Given the description of an element on the screen output the (x, y) to click on. 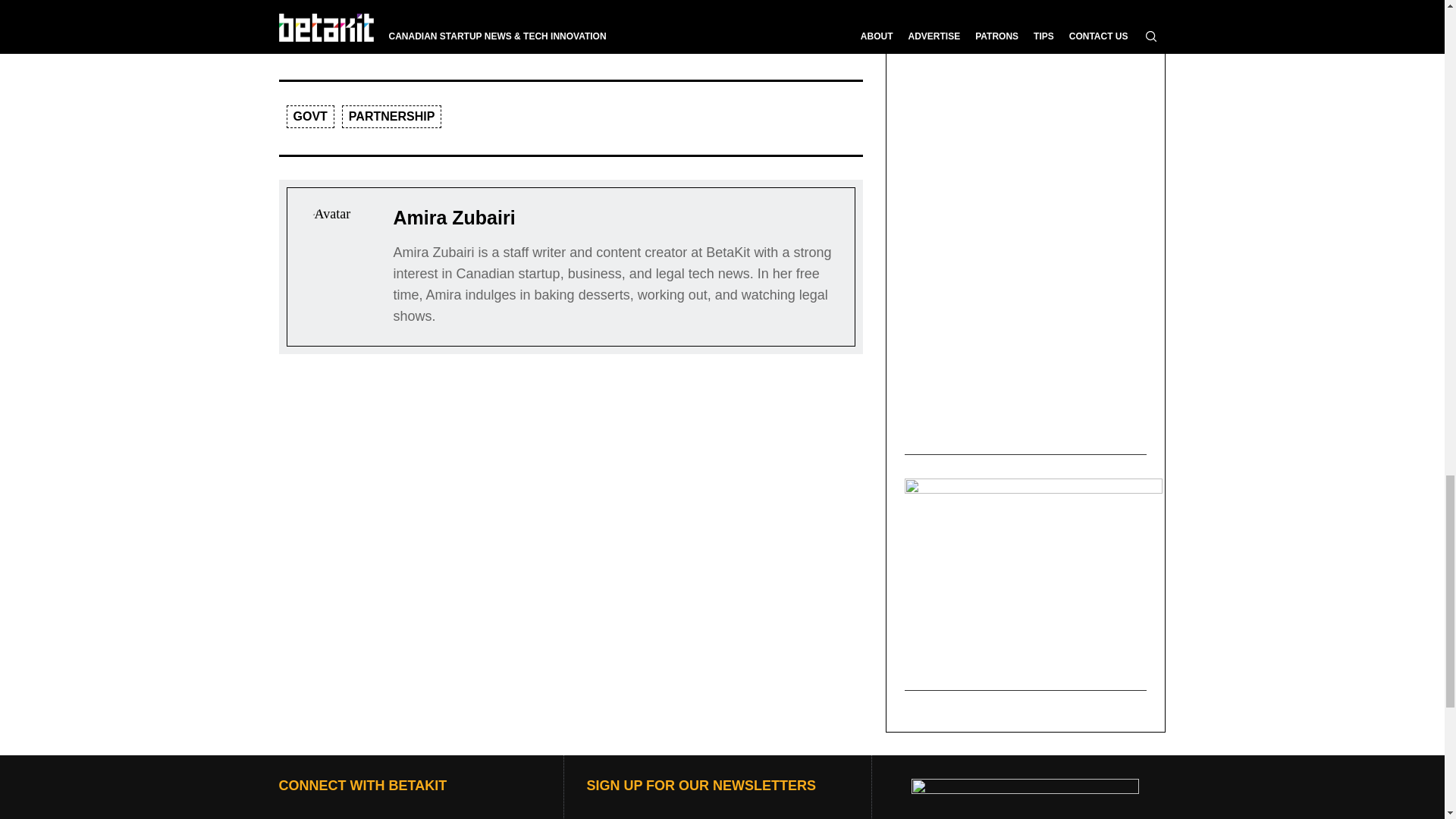
Amira Zubairi (454, 216)
